Given the description of an element on the screen output the (x, y) to click on. 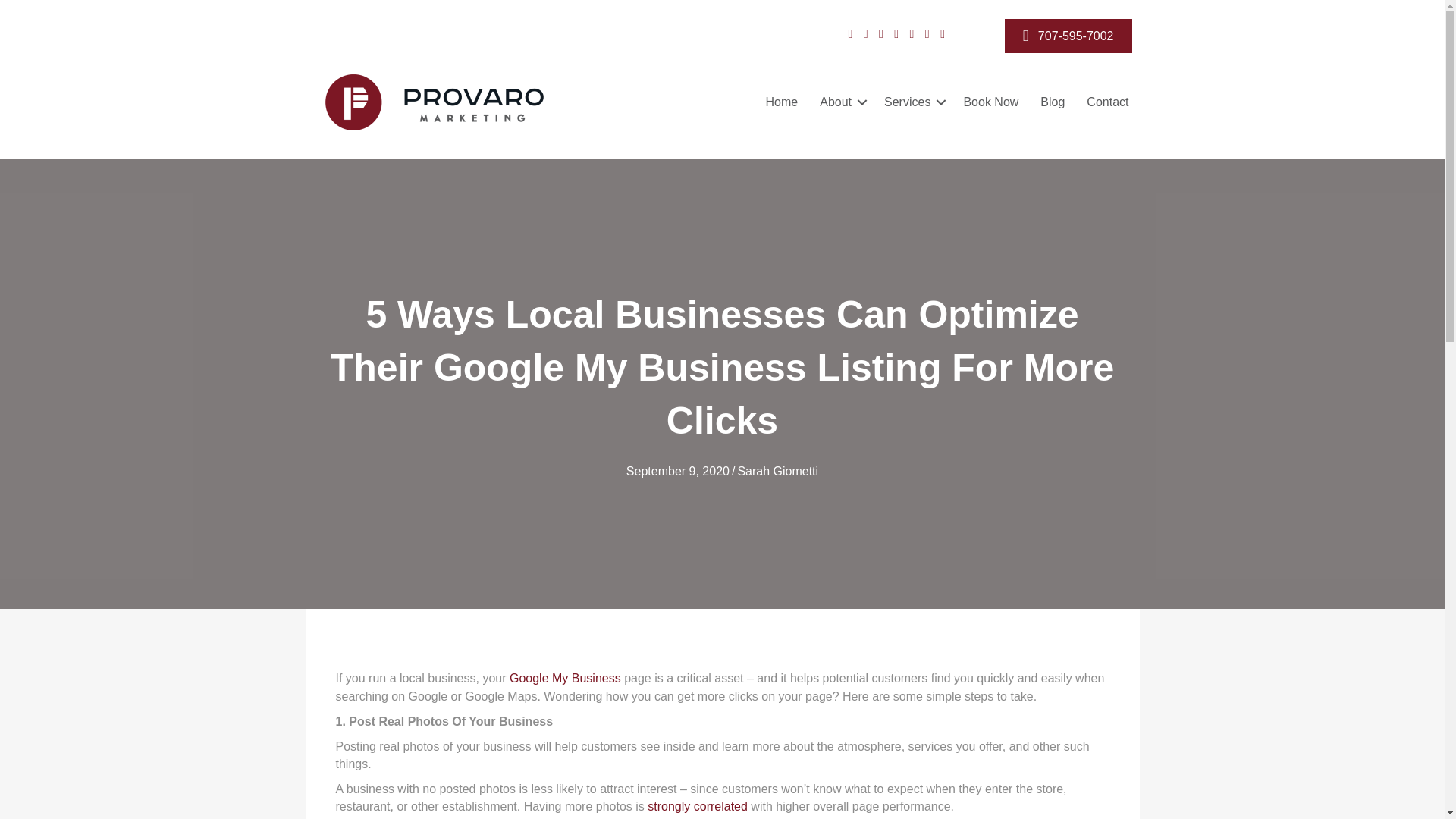
About (840, 101)
Provaro Marketing Logo (433, 101)
Blog (1052, 101)
707-595-7002 (1068, 35)
Services (912, 101)
strongly correlated (697, 806)
Book Now (990, 101)
Home (782, 101)
Contact (1106, 101)
Sarah Giometti (777, 471)
